Given the description of an element on the screen output the (x, y) to click on. 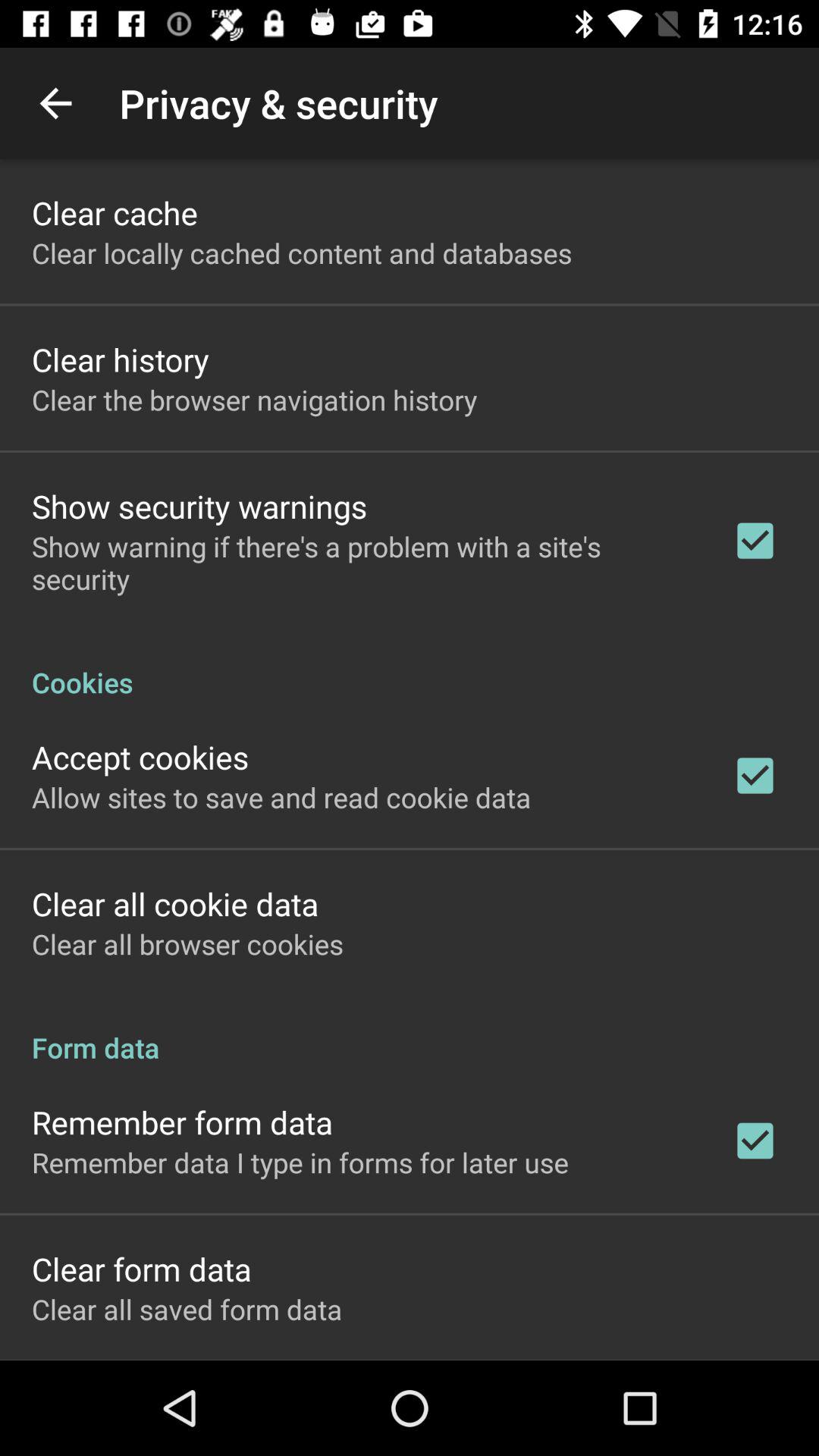
turn on the item below show security warnings icon (361, 562)
